Given the description of an element on the screen output the (x, y) to click on. 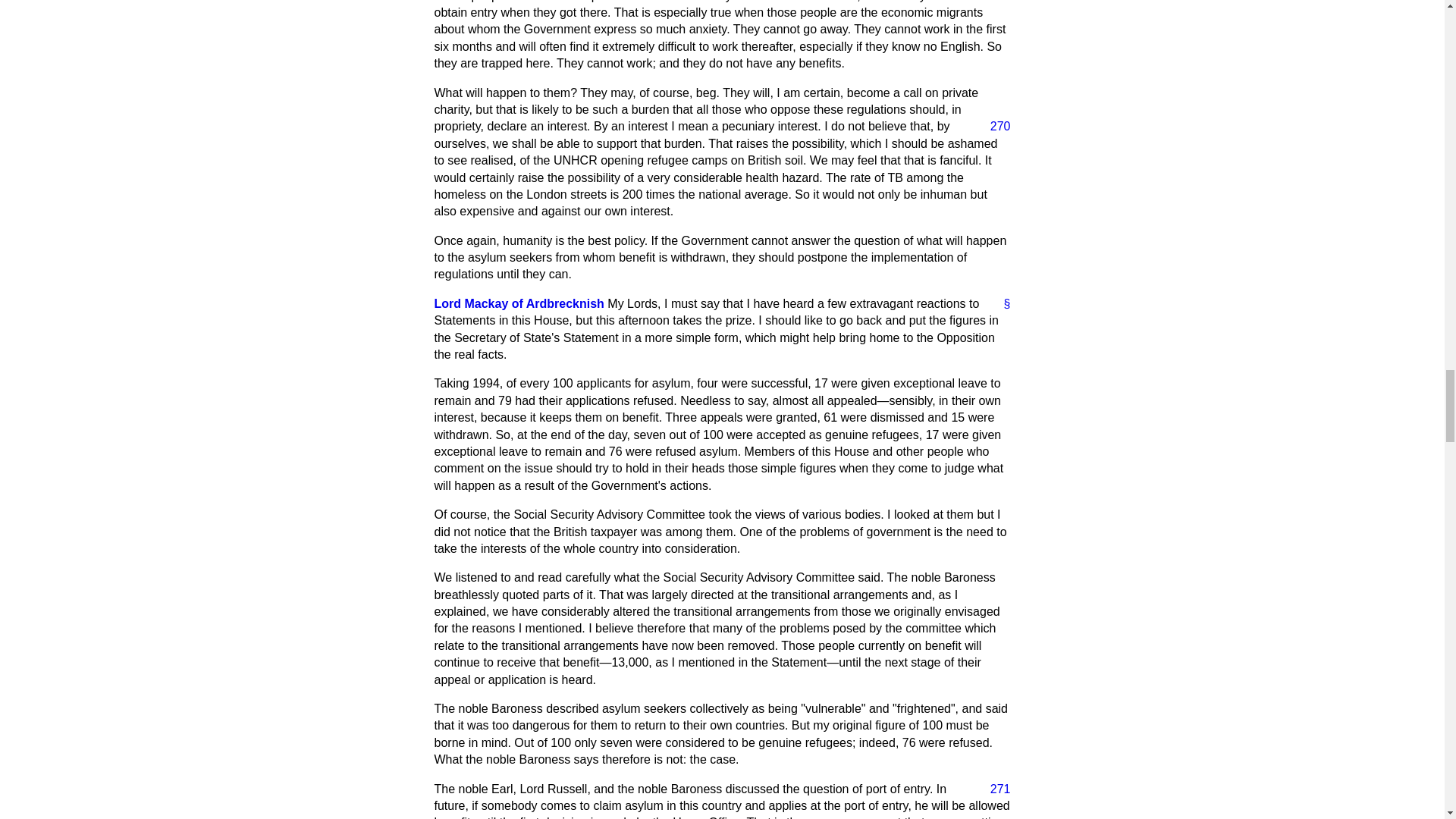
271 (994, 789)
Mr John Mackay (518, 303)
Link to this speech by Mr John Mackay (1000, 303)
Lord Mackay of Ardbrecknish (518, 303)
270 (994, 126)
